Given the description of an element on the screen output the (x, y) to click on. 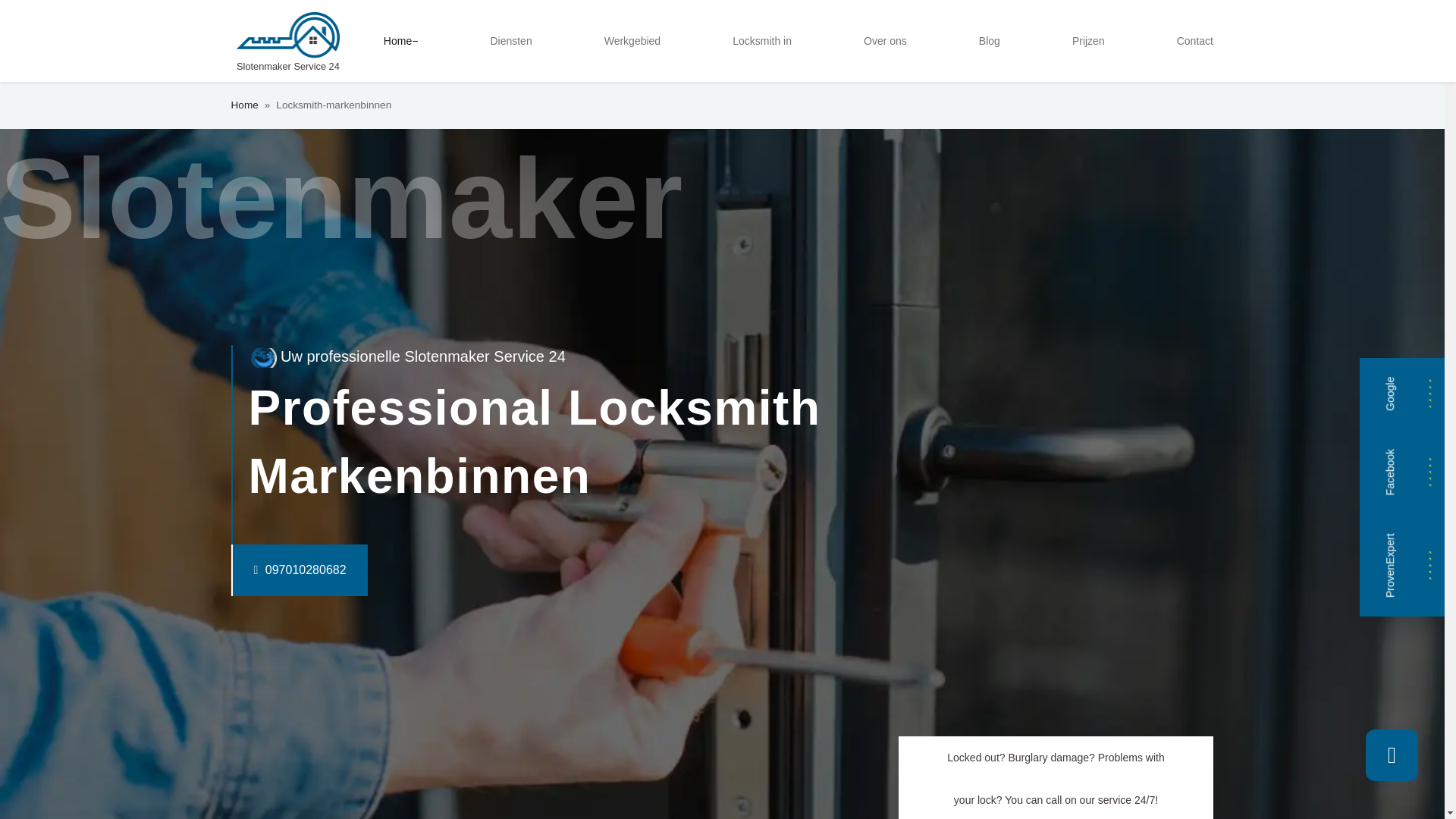
Slotenmaker Service 24 (287, 40)
Home (243, 105)
Blog (989, 40)
097010280682 (268, 570)
Prijzen (1087, 40)
Werkgebied (632, 40)
Over ons (884, 40)
Contact (1195, 40)
Locksmith in (761, 40)
Home (401, 40)
Diensten (510, 40)
